Given the description of an element on the screen output the (x, y) to click on. 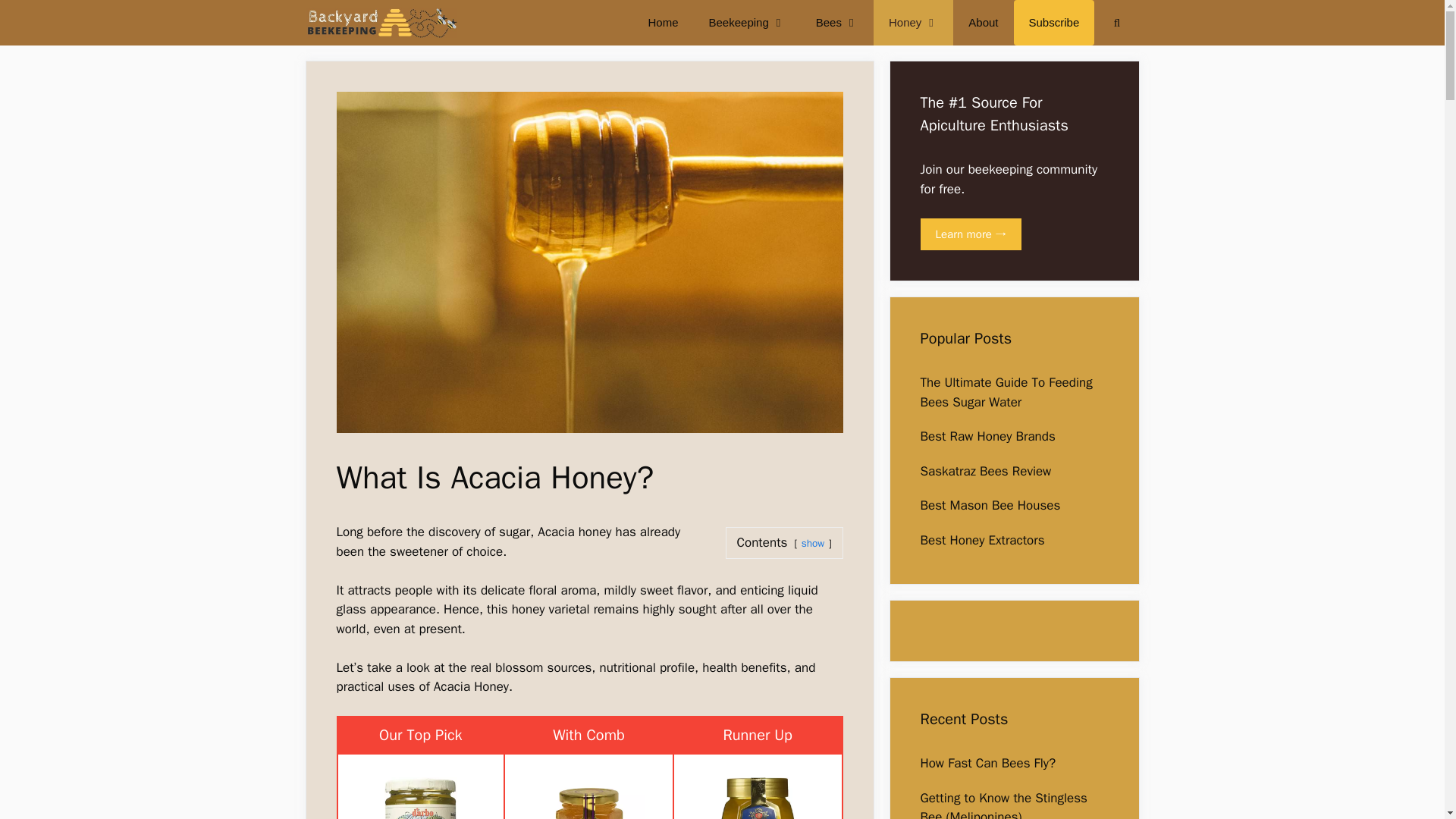
Bees (836, 22)
Home (662, 22)
show (813, 543)
Subscribe (1053, 22)
Beekeeping 101 (380, 22)
Beekeeping 101 (384, 22)
About (983, 22)
Honey (913, 22)
Beekeeping (747, 22)
